Given the description of an element on the screen output the (x, y) to click on. 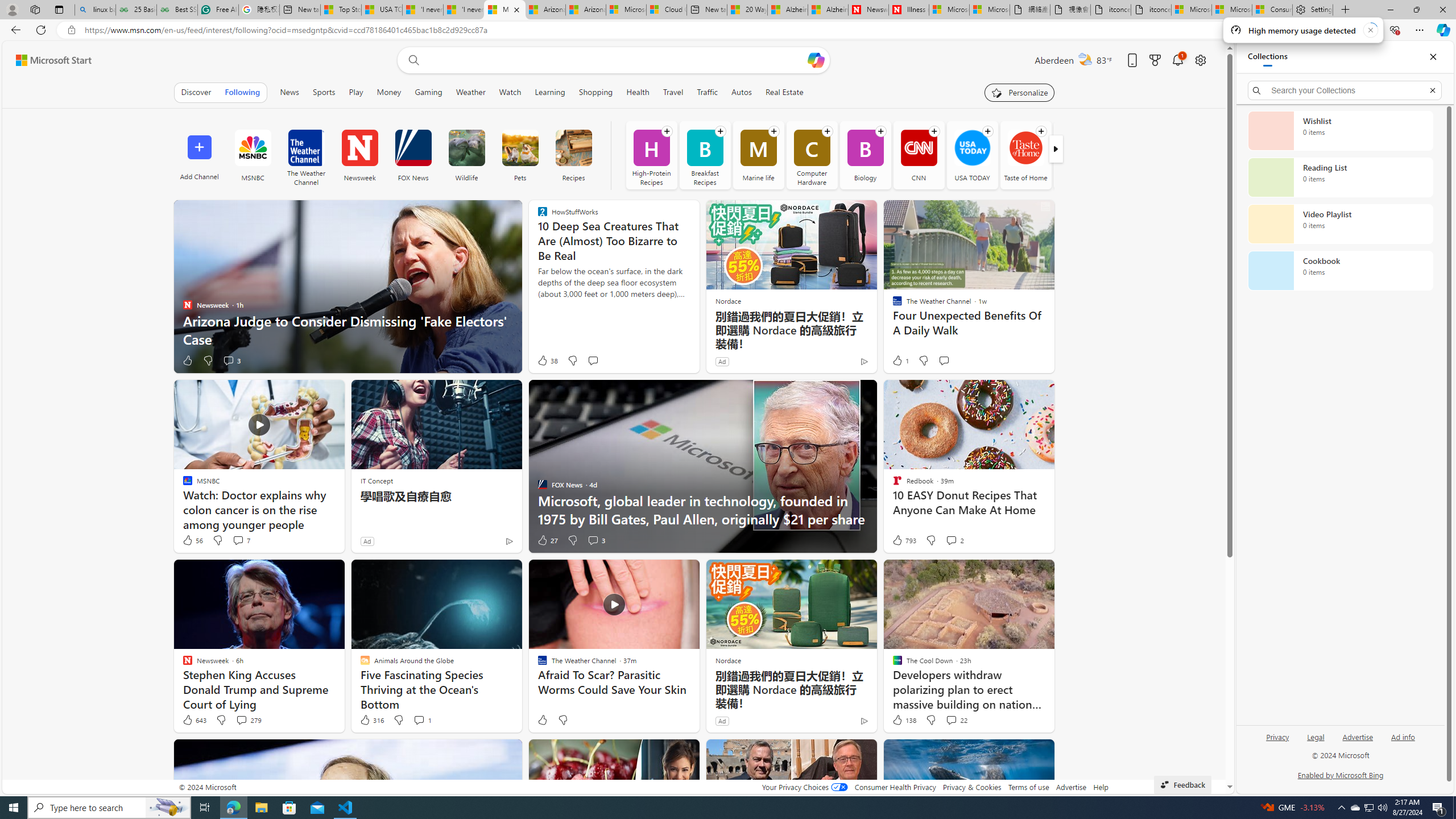
The Weather Channel (306, 147)
793 Like (903, 539)
Traffic (707, 92)
Watch (510, 92)
Pets (520, 147)
Shopping (596, 92)
1 Like (899, 360)
Help (1100, 786)
Wildlife (466, 147)
